Given the description of an element on the screen output the (x, y) to click on. 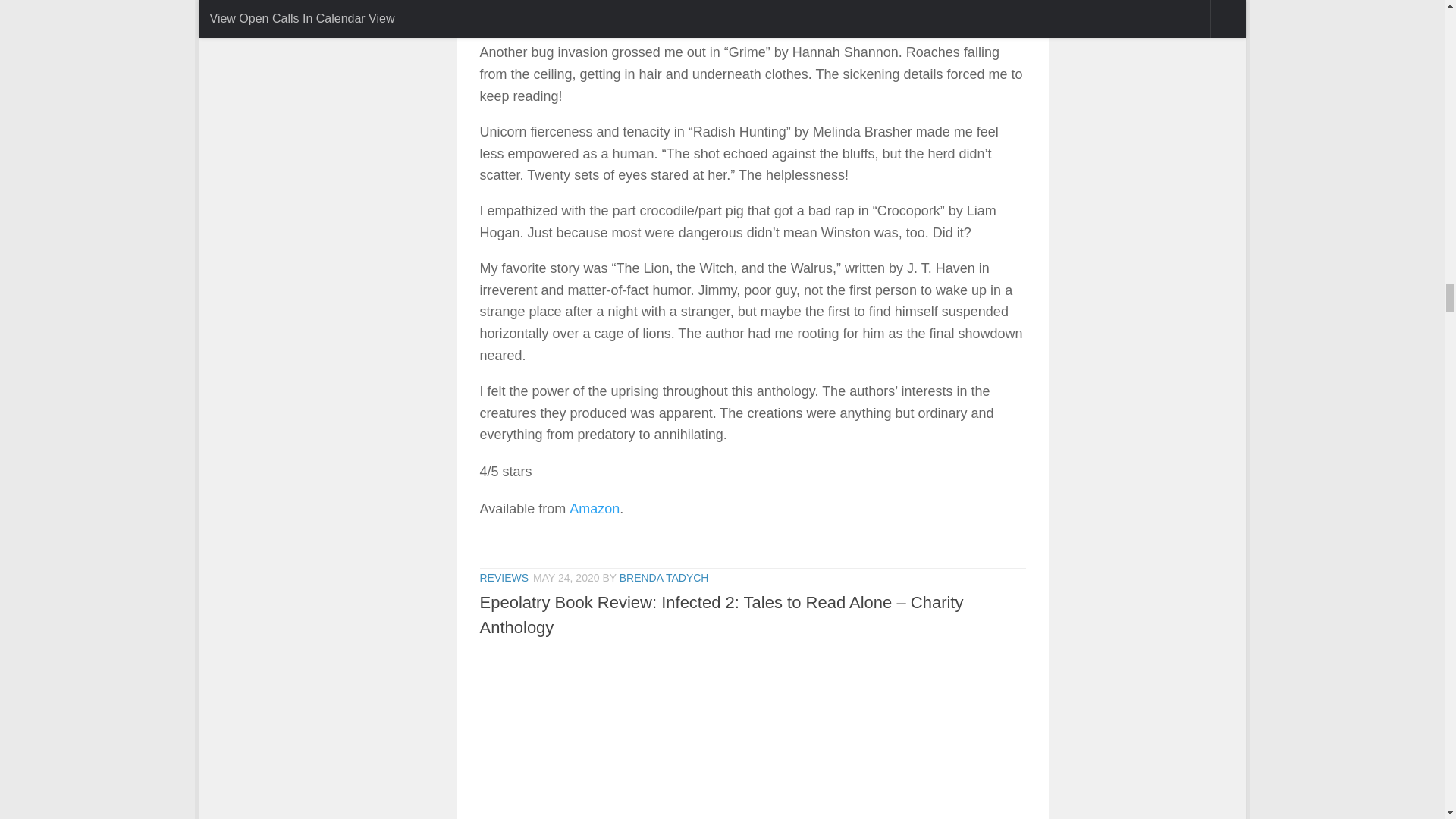
Posts by Brenda Tadych (664, 577)
